Given the description of an element on the screen output the (x, y) to click on. 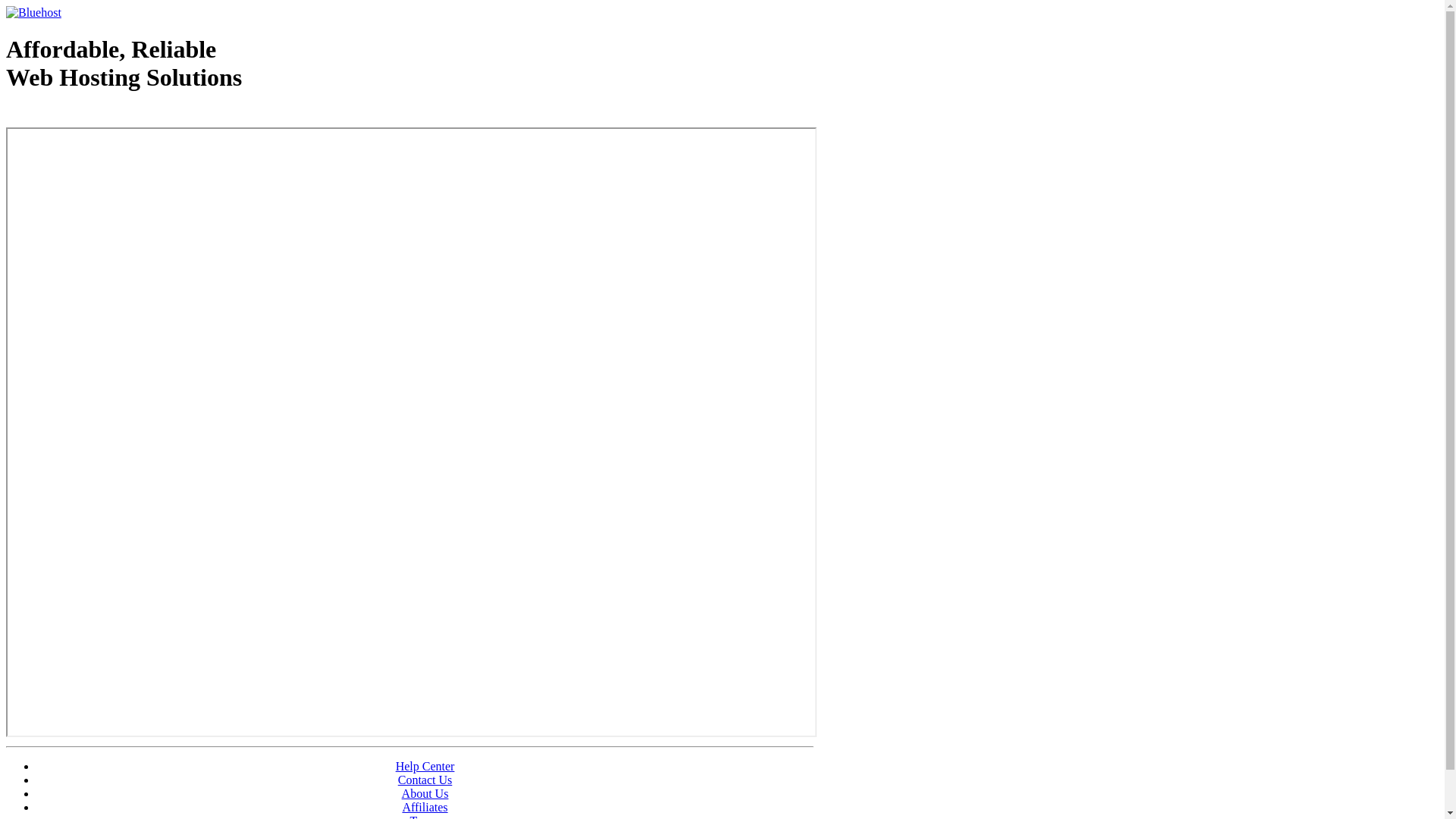
Contact Us Element type: text (425, 779)
About Us Element type: text (424, 793)
Affiliates Element type: text (424, 806)
Help Center Element type: text (425, 765)
Web Hosting - courtesy of www.bluehost.com Element type: text (94, 115)
